Given the description of an element on the screen output the (x, y) to click on. 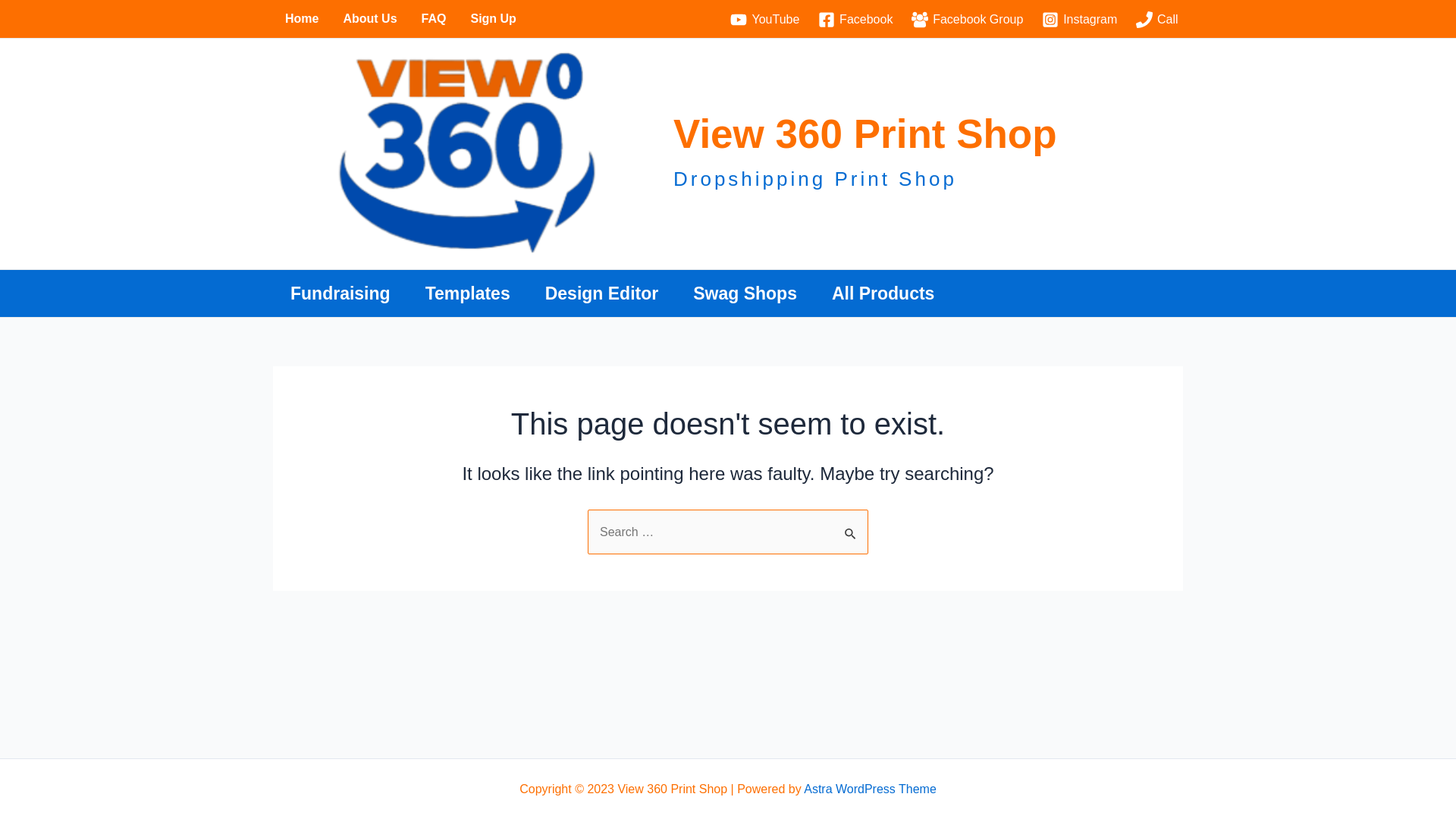
About Us Element type: text (369, 18)
Instagram Element type: text (1079, 19)
Swag Shops Element type: text (744, 292)
Facebook Group Element type: text (967, 19)
FAQ Element type: text (433, 18)
Sign Up Element type: text (492, 18)
Design Editor Element type: text (601, 292)
Home Element type: text (301, 18)
Fundraising Element type: text (340, 292)
All Products Element type: text (882, 292)
Call Element type: text (1157, 19)
YouTube Element type: text (764, 19)
Search Element type: text (851, 525)
View 360 Print Shop Element type: text (865, 133)
Facebook Element type: text (855, 19)
Templates Element type: text (467, 292)
Astra WordPress Theme Element type: text (869, 788)
